Given the description of an element on the screen output the (x, y) to click on. 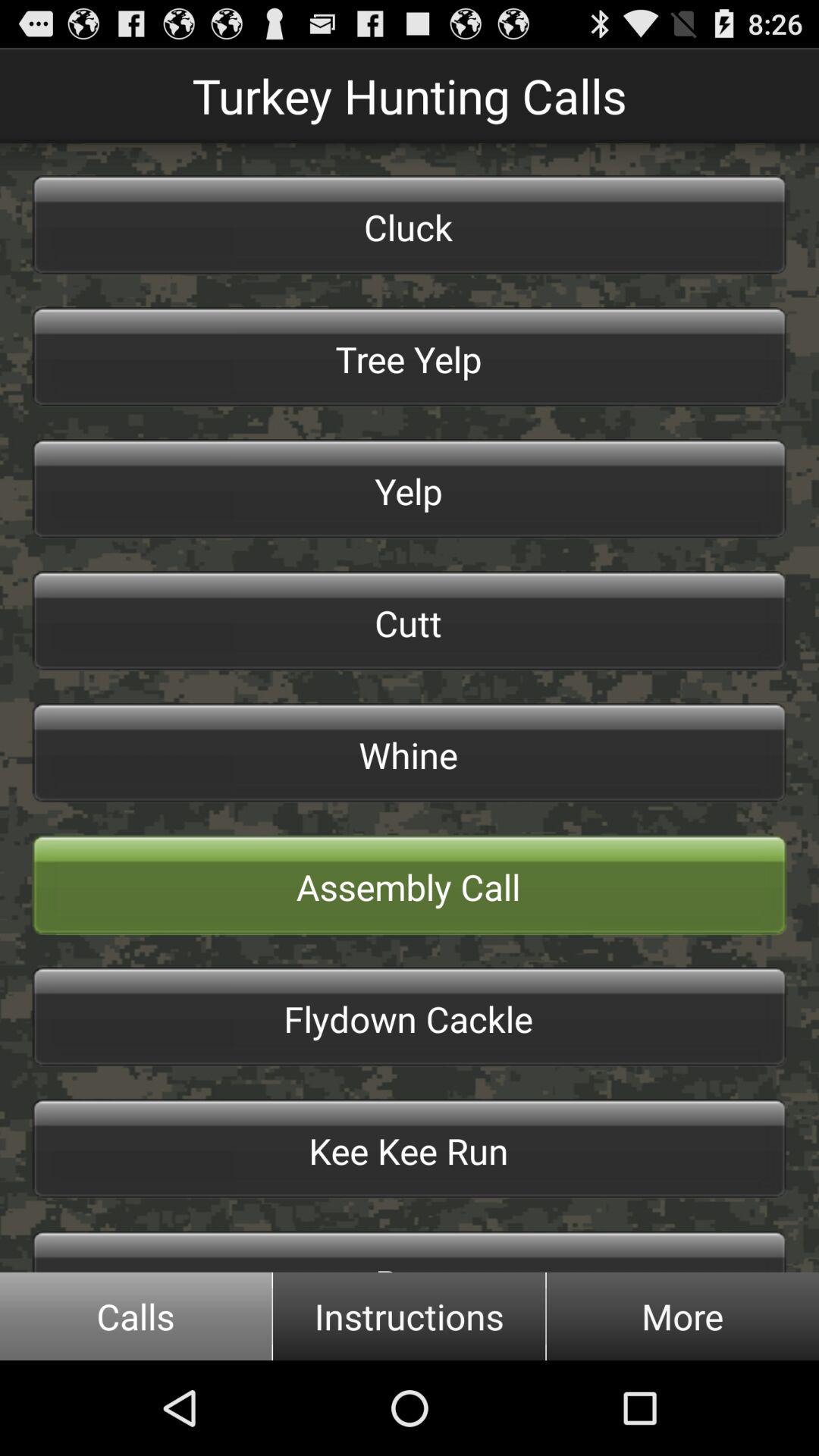
flip until cluck (409, 225)
